Given the description of an element on the screen output the (x, y) to click on. 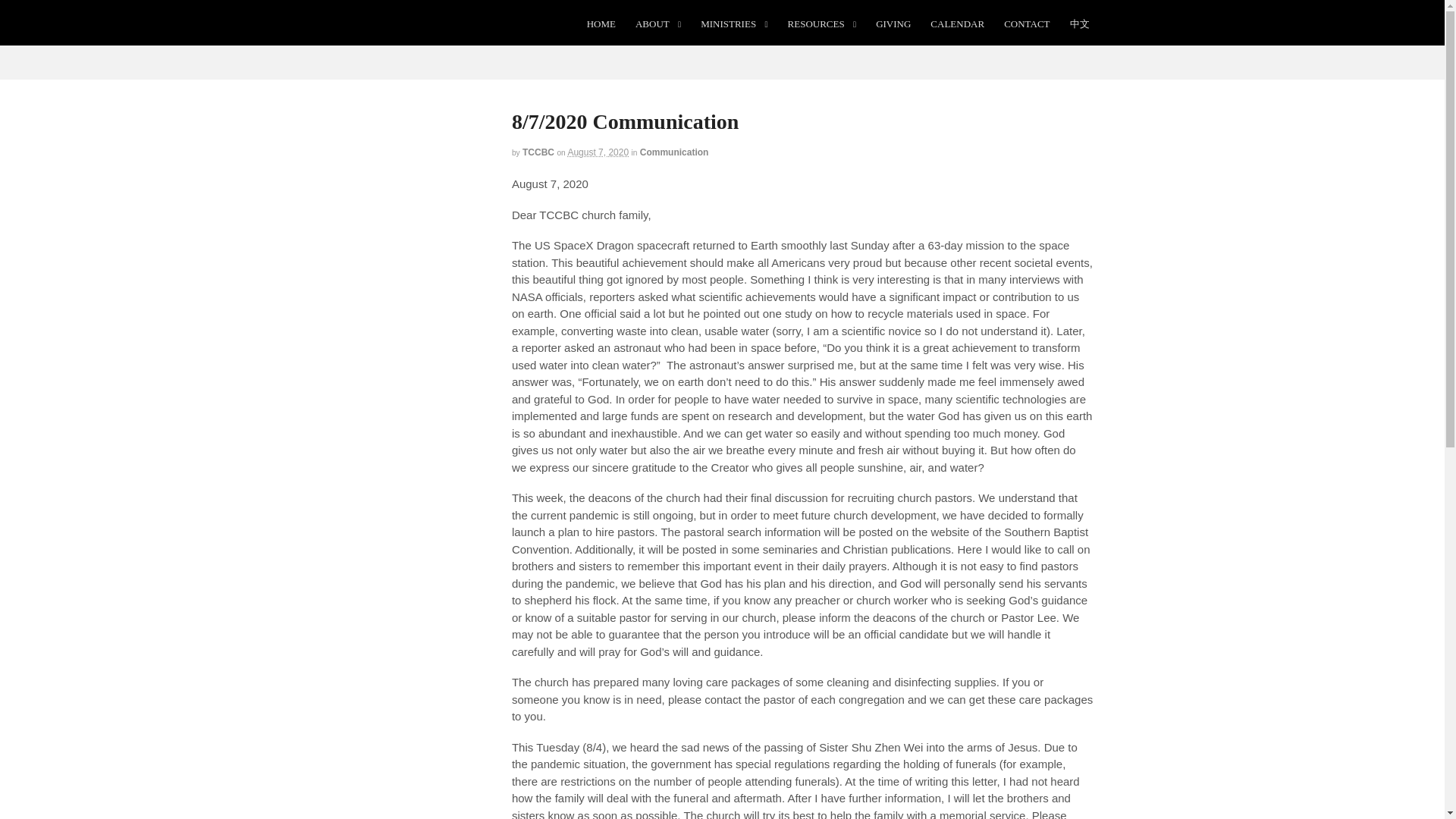
CALENDAR (957, 23)
RESOURCES (821, 23)
CONTACT (1026, 23)
MINISTRIES (733, 23)
Posts by TCCBC (538, 152)
2020-08-07T10:00:00-0700 (597, 152)
ABOUT (658, 23)
GIVING (893, 23)
View all items in Communication (674, 152)
HOME (601, 23)
